Given the description of an element on the screen output the (x, y) to click on. 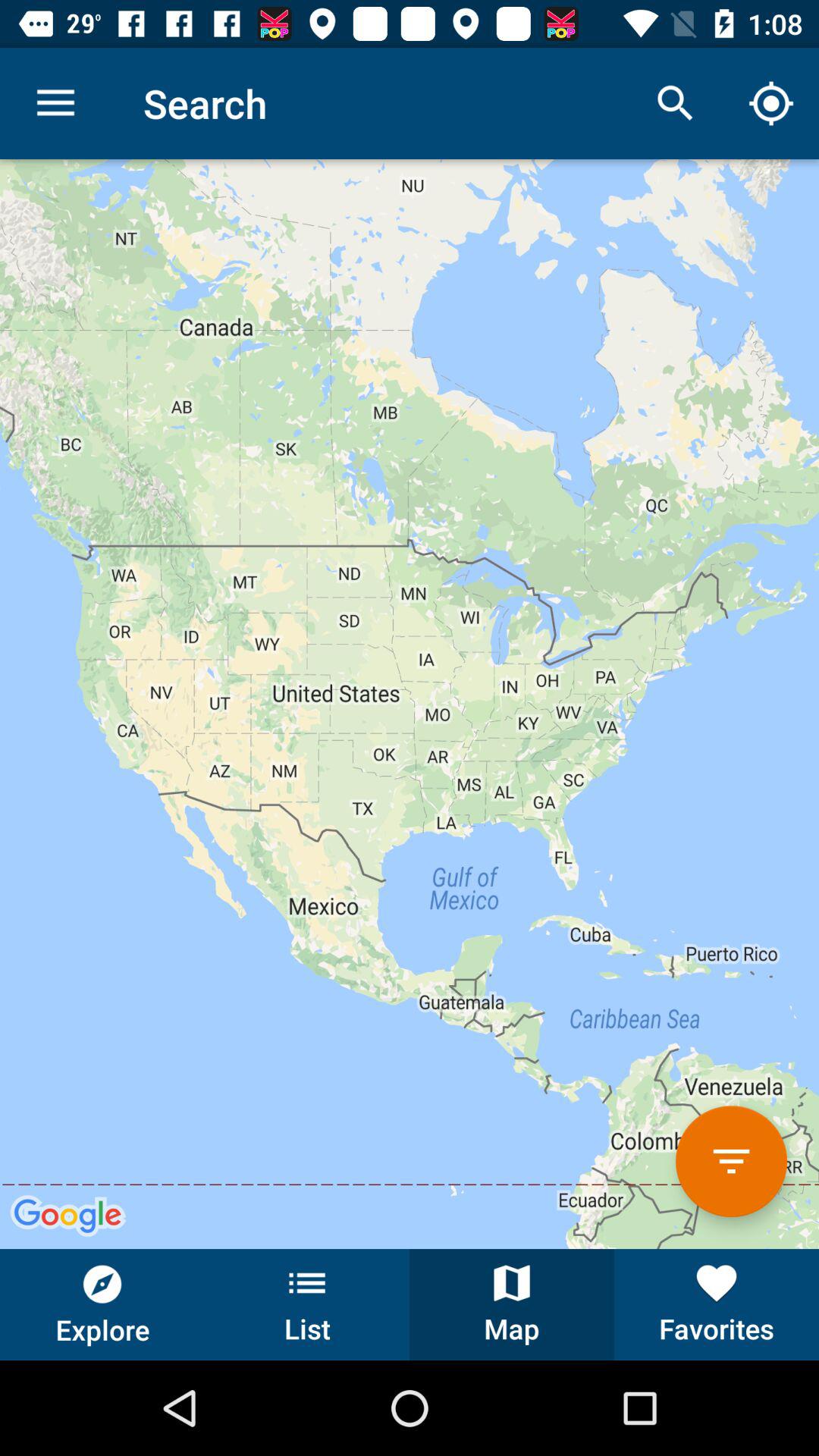
list filtered data (731, 1161)
